Given the description of an element on the screen output the (x, y) to click on. 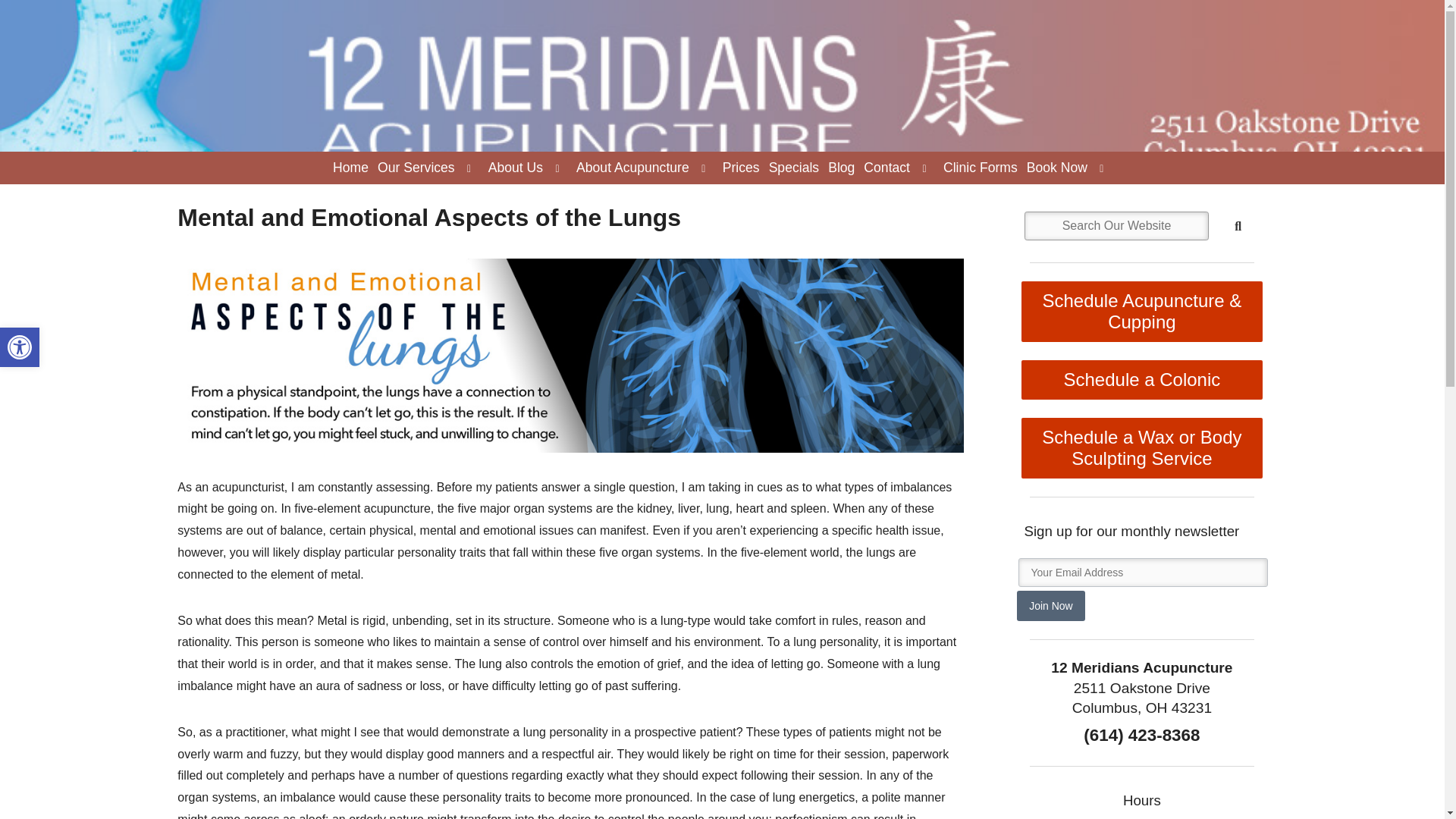
Prices (740, 167)
Clinic Forms (980, 167)
Specials (794, 167)
About Us (19, 346)
Accessibility Tools (515, 167)
Accessibility Tools (19, 346)
Contact (19, 346)
Our Services (886, 167)
About Acupuncture (416, 167)
Home (633, 167)
Blog (350, 167)
